Given the description of an element on the screen output the (x, y) to click on. 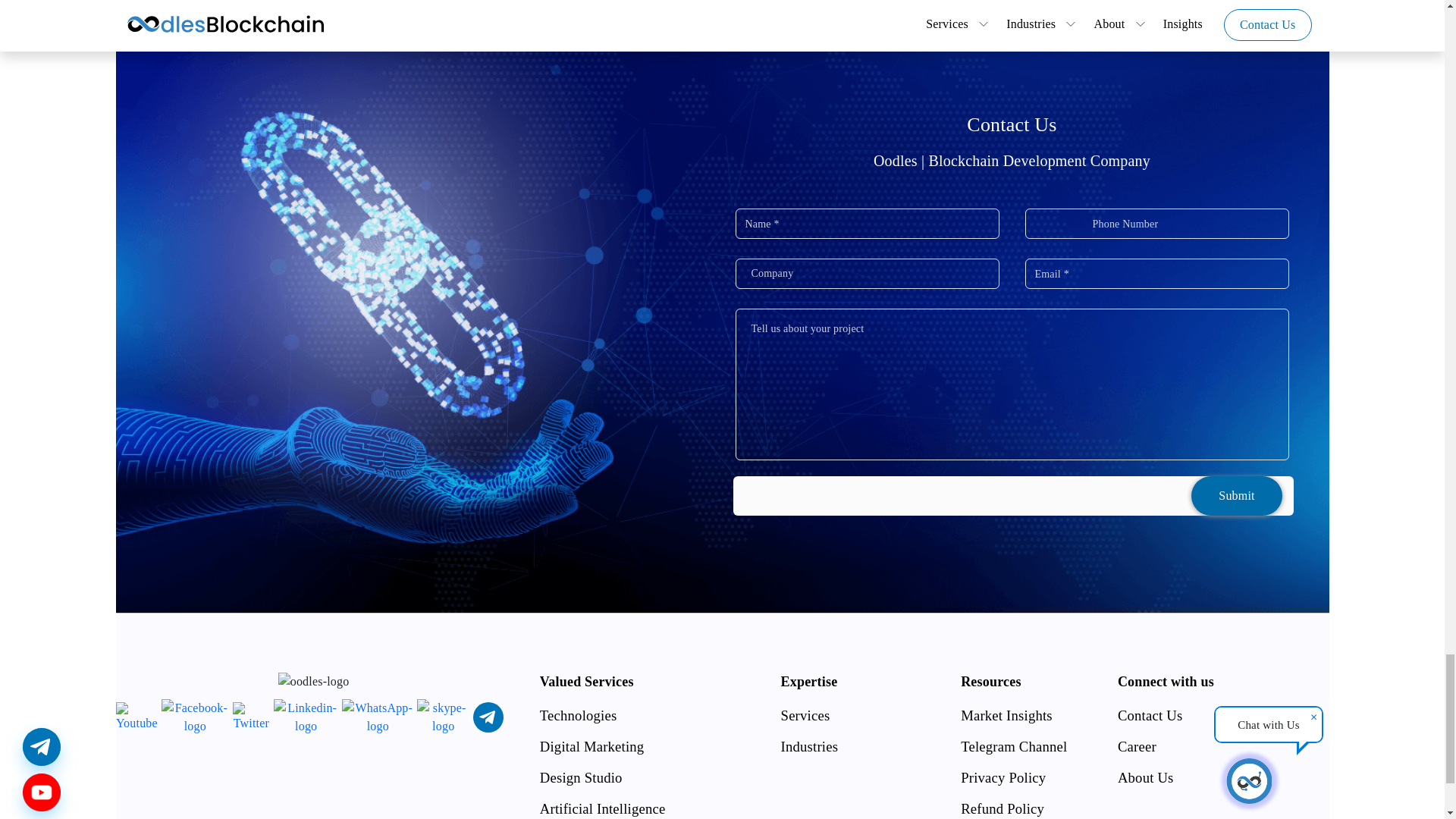
Linkedin (305, 717)
Skype (442, 717)
Telegram (488, 716)
Facebook (194, 717)
Twitter (250, 716)
WhatsApp (377, 717)
Youtube (136, 716)
